Given the description of an element on the screen output the (x, y) to click on. 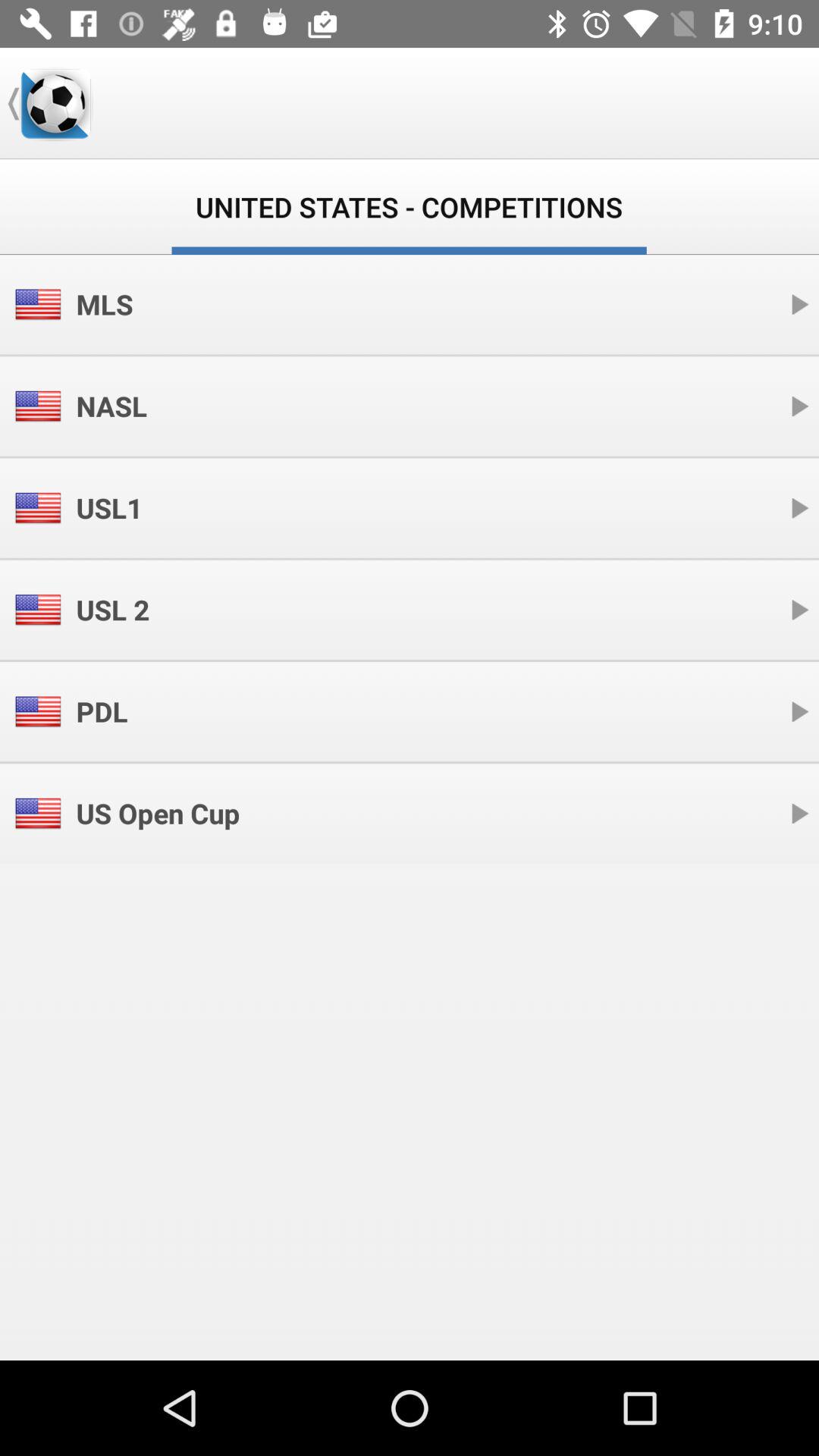
jump to the mls (104, 304)
